Given the description of an element on the screen output the (x, y) to click on. 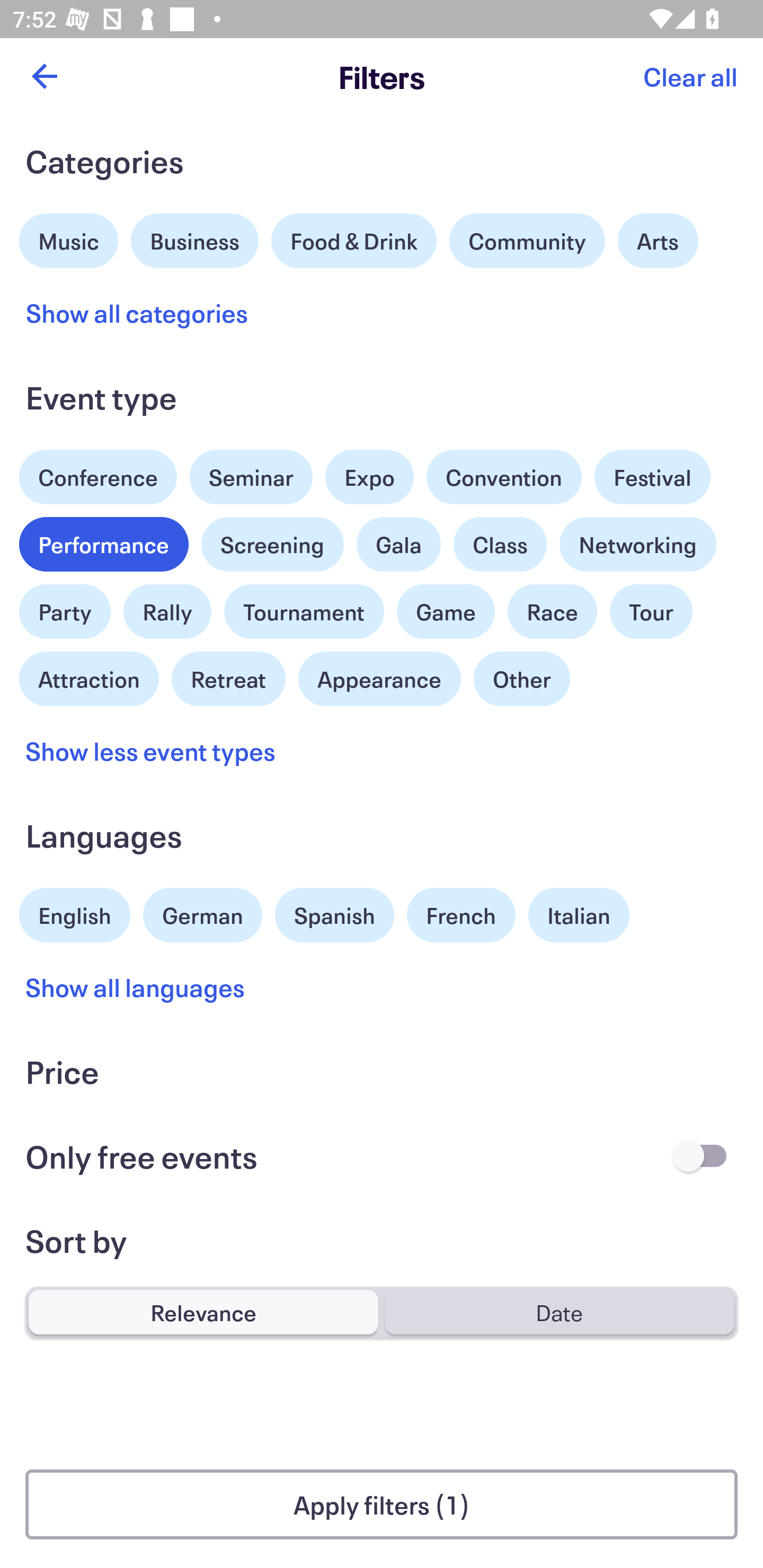
Back button (44, 75)
Clear all (690, 75)
Music (68, 238)
Business (194, 238)
Food & Drink (353, 240)
Community (527, 240)
Arts (658, 240)
Show all categories (136, 312)
Conference (98, 472)
Seminar (250, 477)
Expo (369, 477)
Convention (503, 477)
Festival (652, 472)
Performance (103, 544)
Screening (272, 544)
Gala (398, 544)
Class (500, 544)
Networking (637, 544)
Party (64, 607)
Rally (167, 611)
Tournament (303, 611)
Game (445, 611)
Race (552, 611)
Tour (650, 611)
Attraction (88, 676)
Retreat (228, 676)
Appearance (379, 678)
Other (521, 678)
Show less event types (150, 749)
English (74, 912)
German (202, 912)
Spanish (334, 914)
French (460, 914)
Italian (578, 914)
Show all languages (135, 986)
Relevance (203, 1311)
Date (559, 1311)
Apply filters (1) (381, 1504)
